Given the description of an element on the screen output the (x, y) to click on. 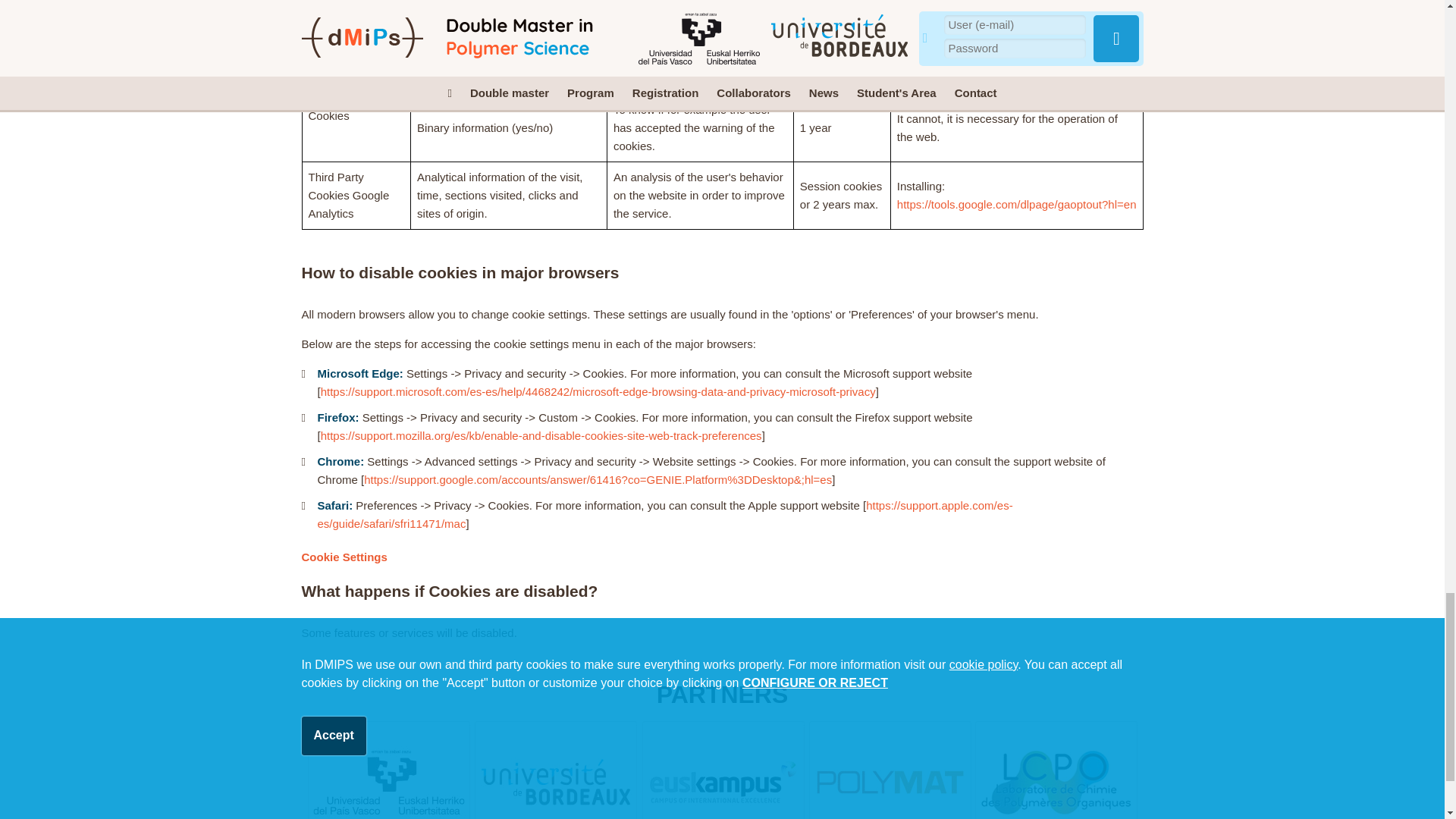
Cookie Settings (344, 556)
